Given the description of an element on the screen output the (x, y) to click on. 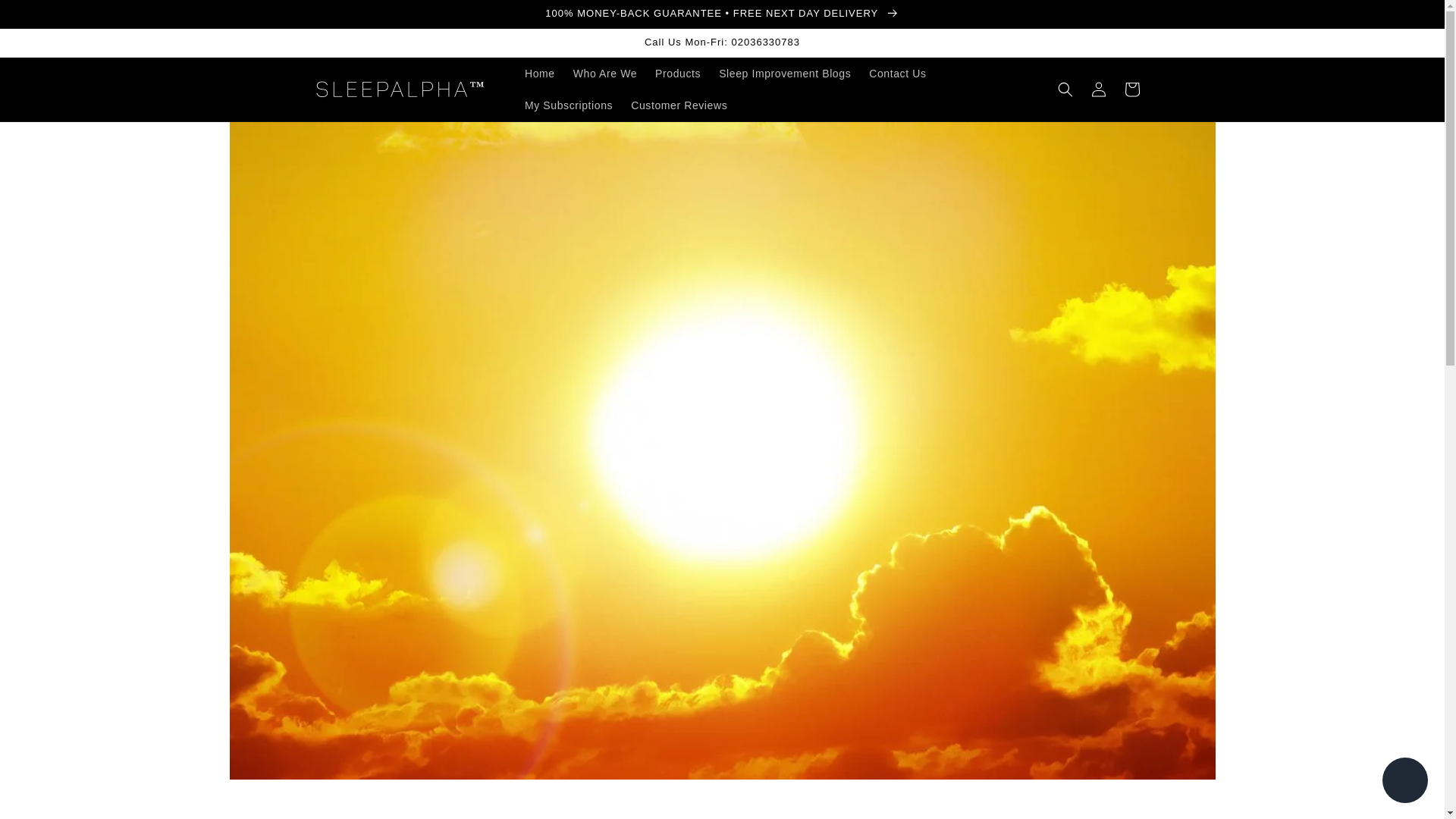
Who Are We (605, 73)
Contact Us (897, 73)
Sleep Improvement Blogs (785, 73)
Products (678, 73)
My Subscriptions (568, 105)
Shopify online store chat (1404, 781)
Cart (1131, 89)
Home (539, 73)
Log in (1098, 89)
Customer Reviews (678, 105)
